Given the description of an element on the screen output the (x, y) to click on. 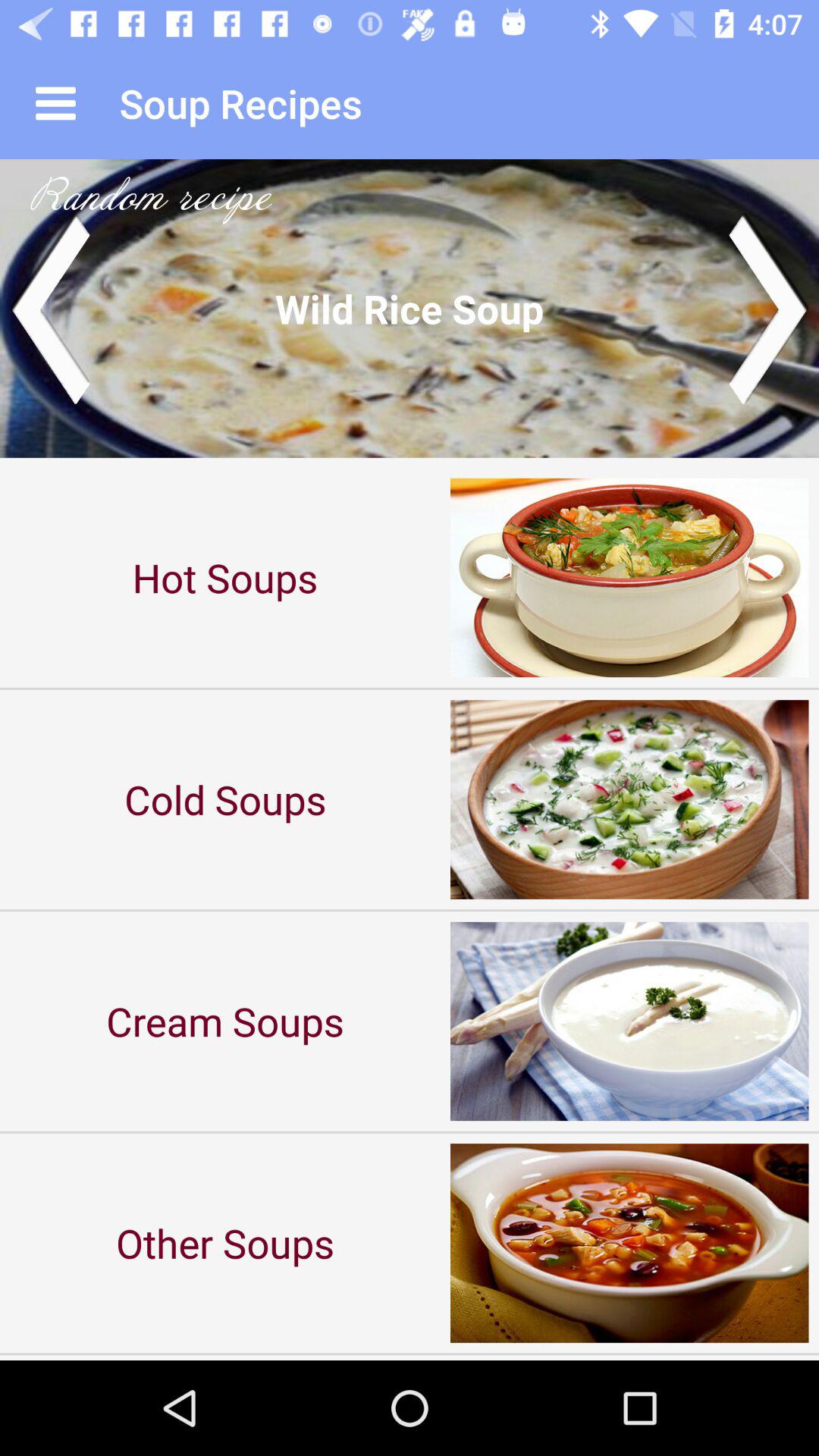
go to the previous images or style sheets in cascading view (49, 308)
